Given the description of an element on the screen output the (x, y) to click on. 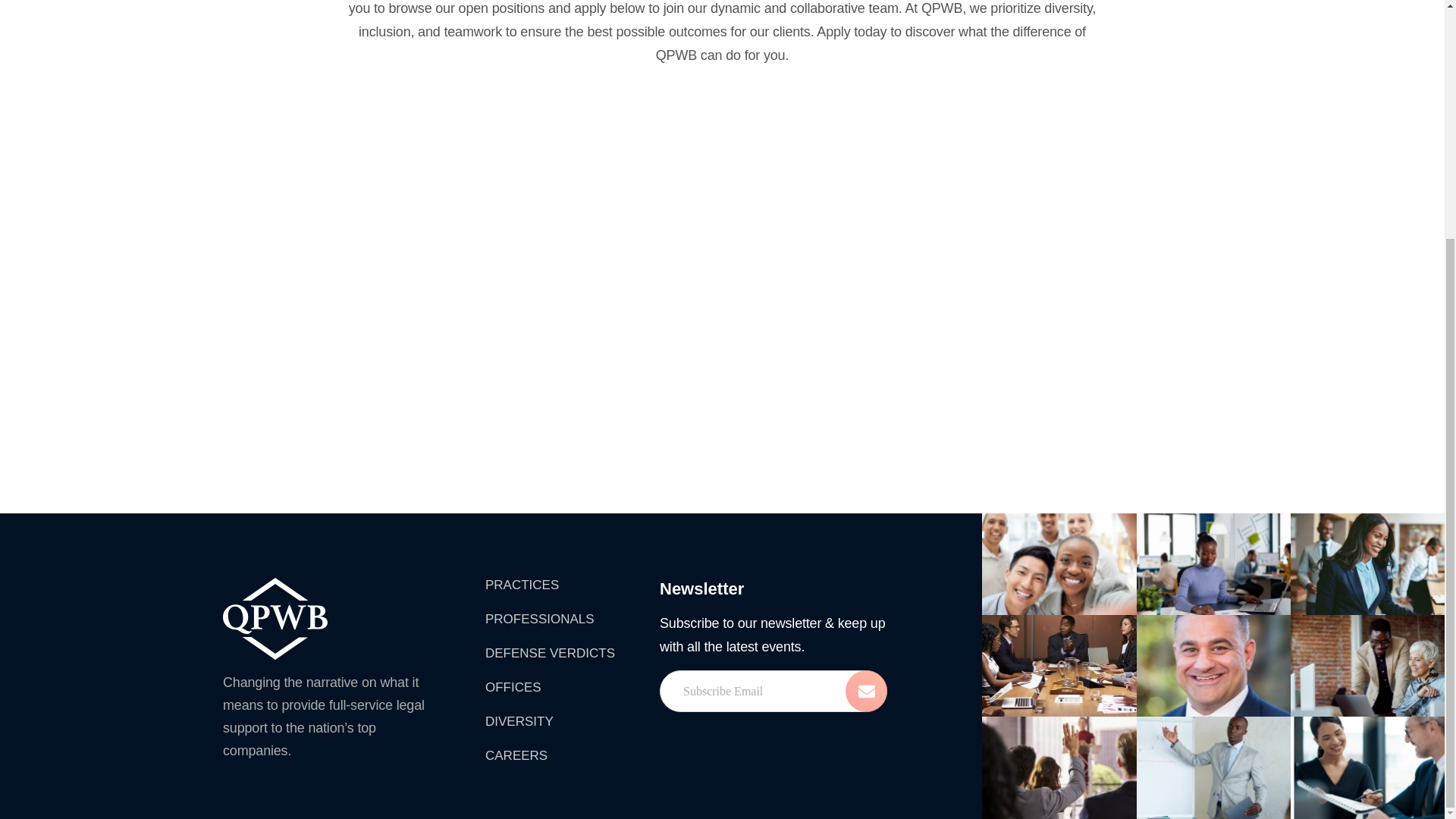
OFFICES (549, 687)
Submit (865, 690)
PROFESSIONALS (549, 619)
PRACTICES (549, 585)
DIVERSITY (549, 721)
DEFENSE VERDICTS (549, 653)
CAREERS (549, 755)
